Given the description of an element on the screen output the (x, y) to click on. 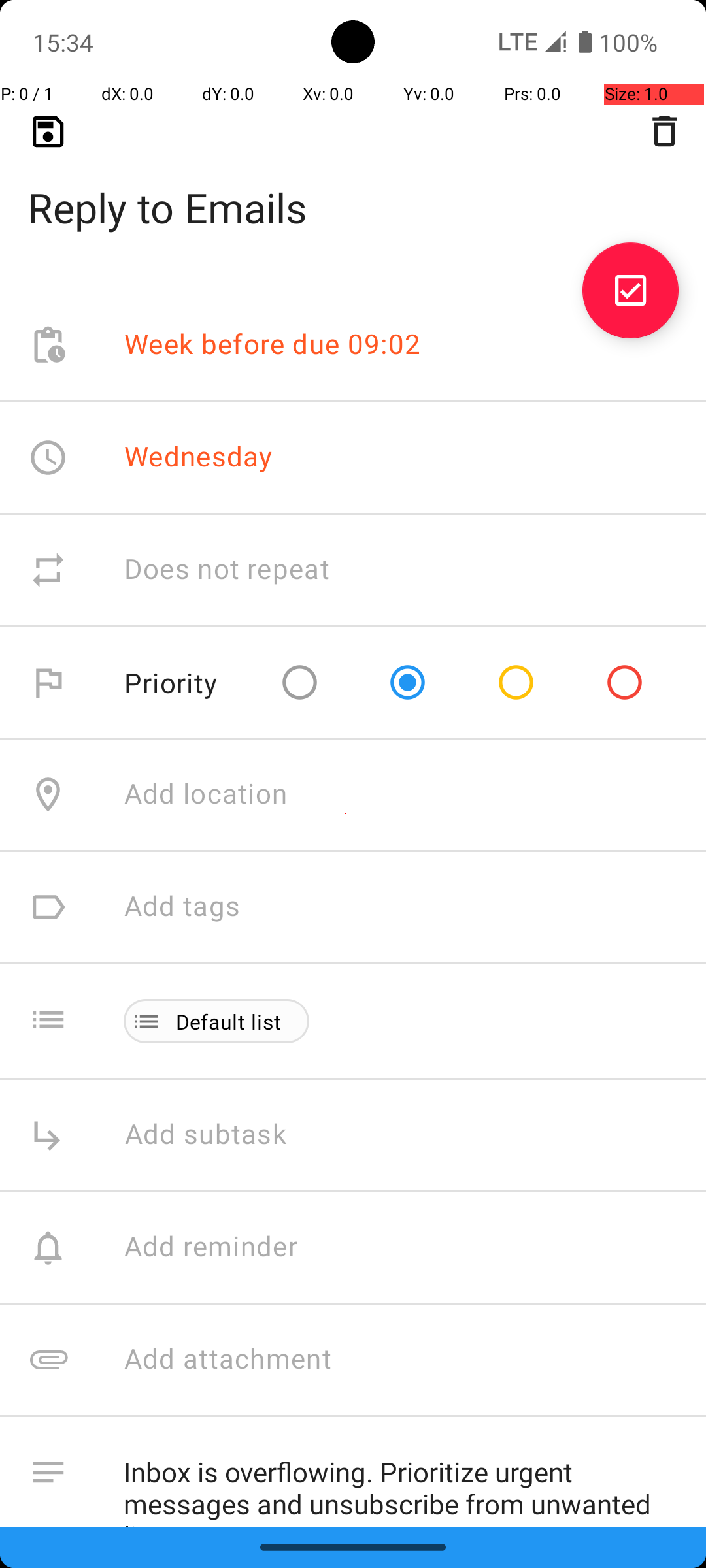
Inbox is overflowing. Prioritize urgent messages and unsubscribe from unwanted lists. Element type: android.widget.EditText (400, 1481)
Week before due 09:02 Element type: android.widget.TextView (272, 344)
